Given the description of an element on the screen output the (x, y) to click on. 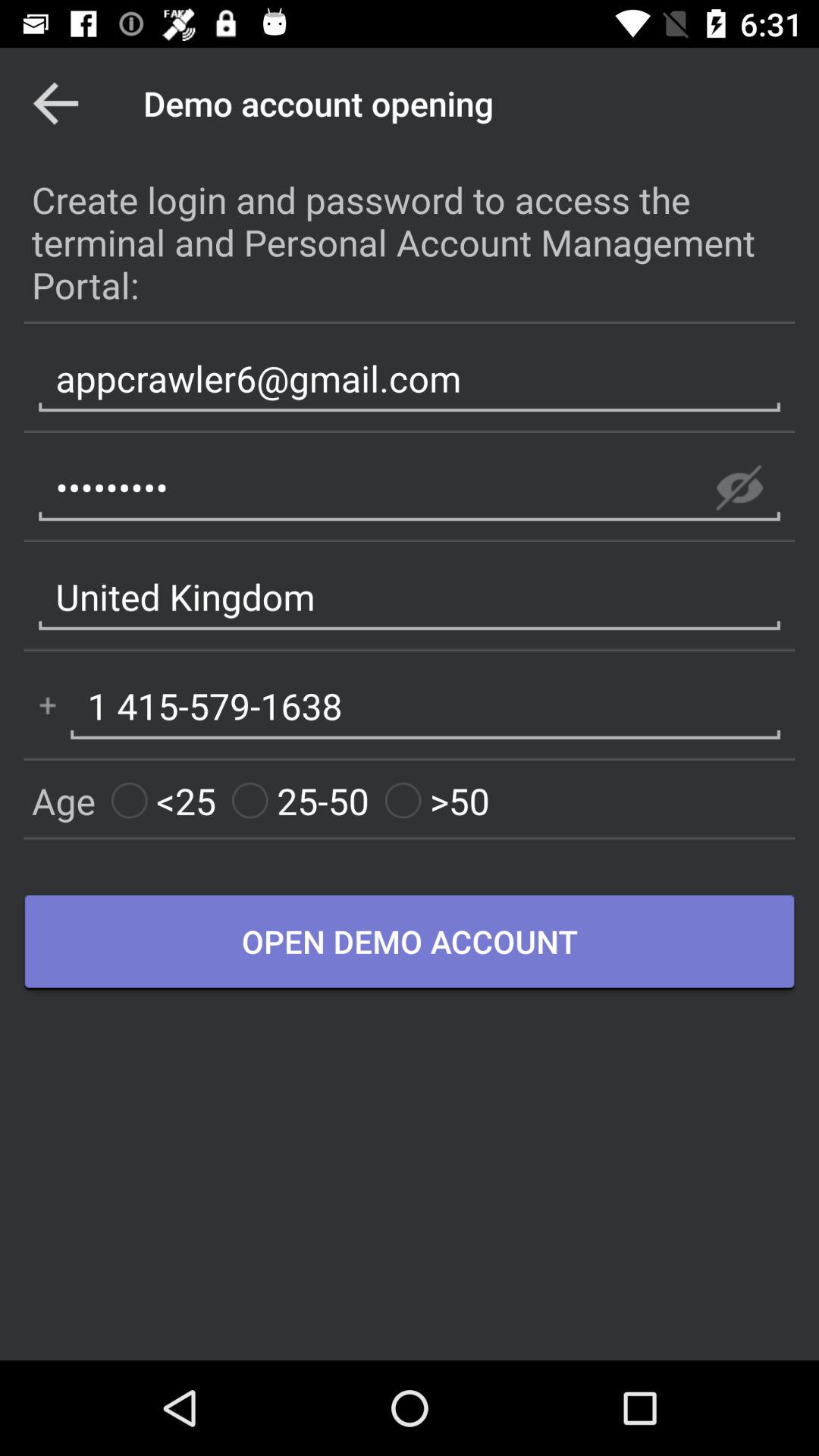
toggle show password option (739, 487)
